Given the description of an element on the screen output the (x, y) to click on. 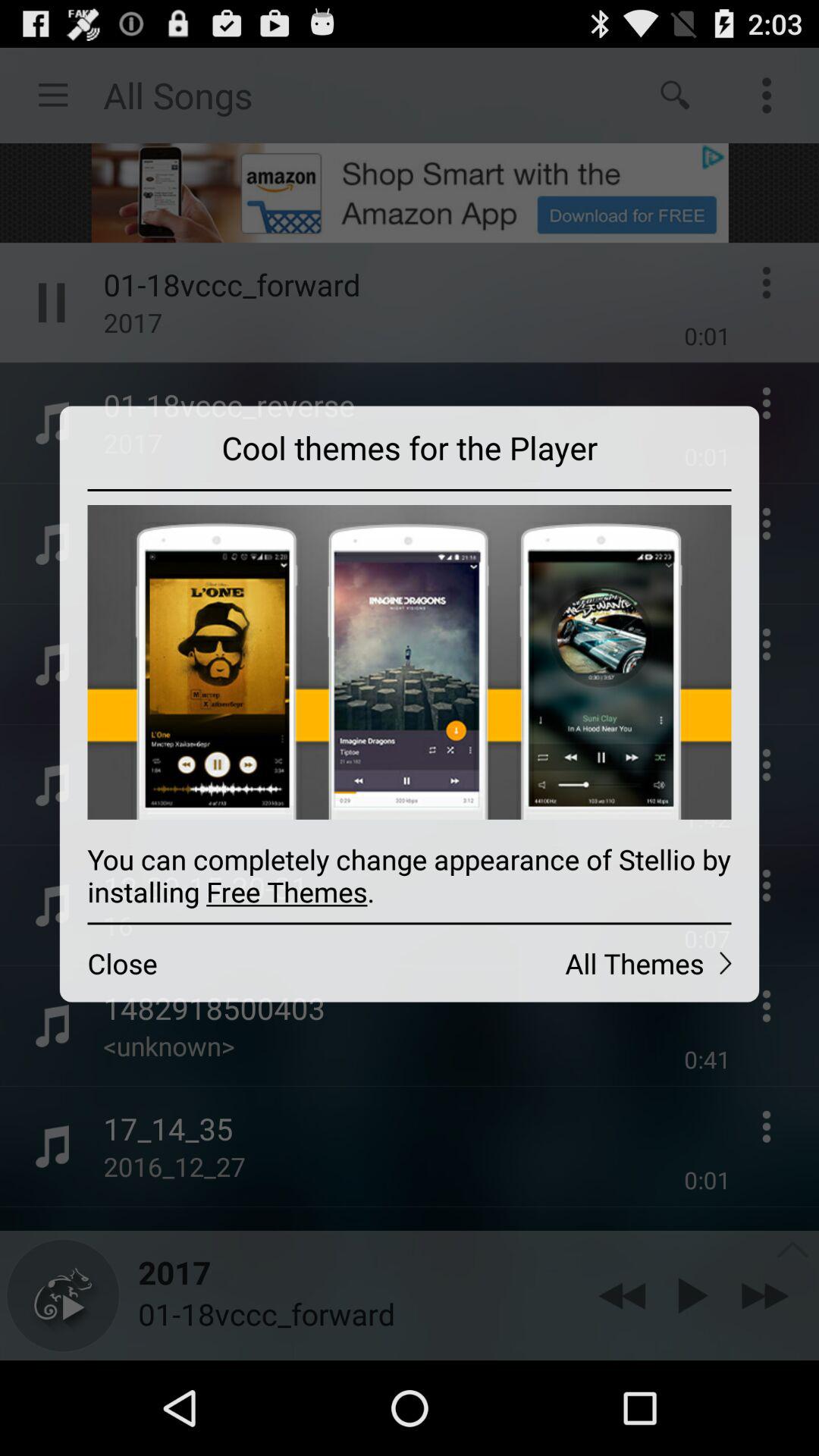
choose the icon below the you can completely icon (234, 963)
